Given the description of an element on the screen output the (x, y) to click on. 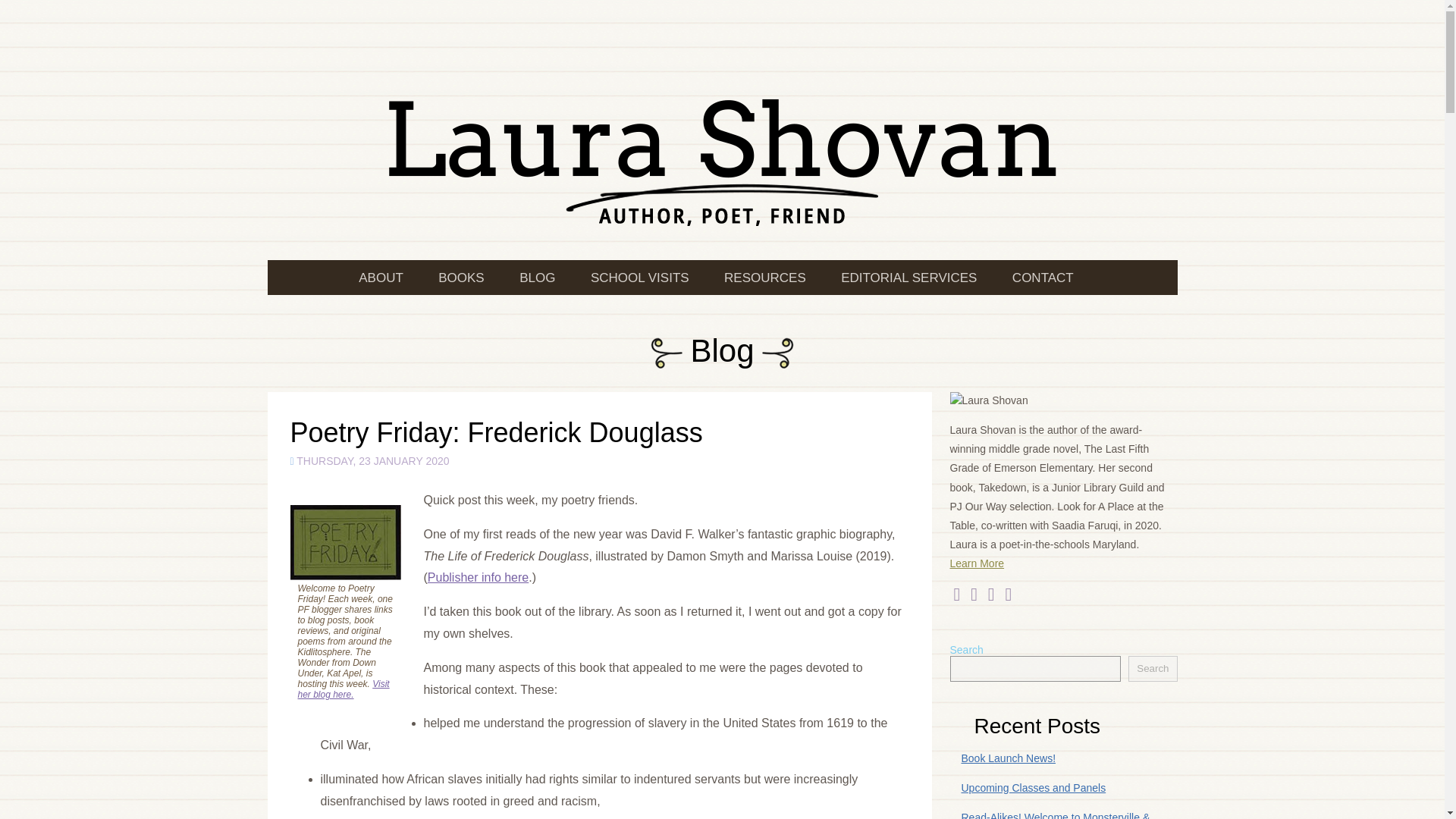
Publisher info here (478, 576)
RESOURCES (762, 277)
Visit her blog here. (342, 689)
BLOG (534, 277)
EDITORIAL SERVICES (906, 277)
BOOKS (459, 277)
Poetry Friday: Frederick Douglass (495, 431)
SCHOOL VISITS (637, 277)
CONTACT (1040, 277)
ABOUT (388, 277)
